Given the description of an element on the screen output the (x, y) to click on. 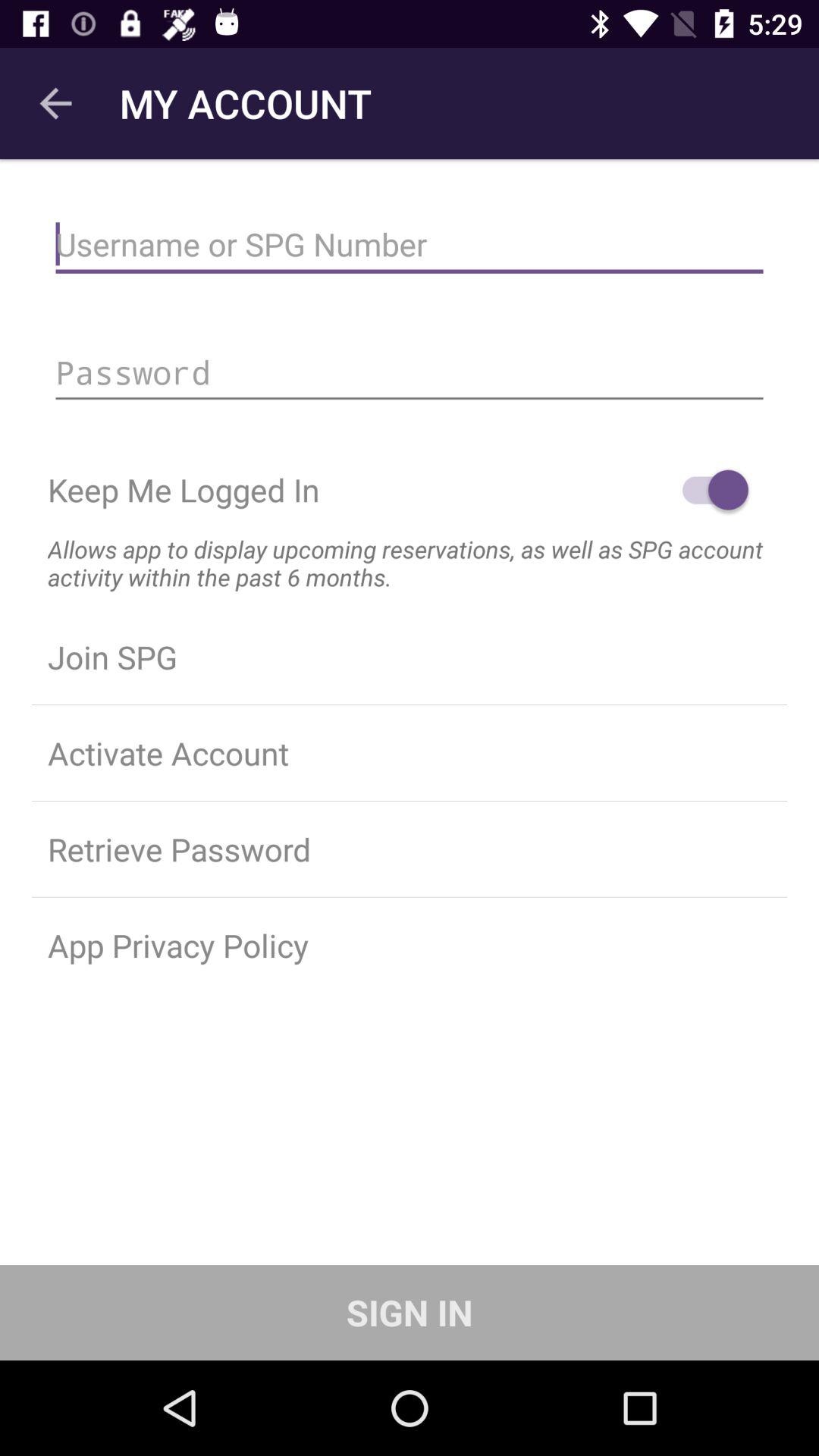
press item on the right (707, 489)
